Given the description of an element on the screen output the (x, y) to click on. 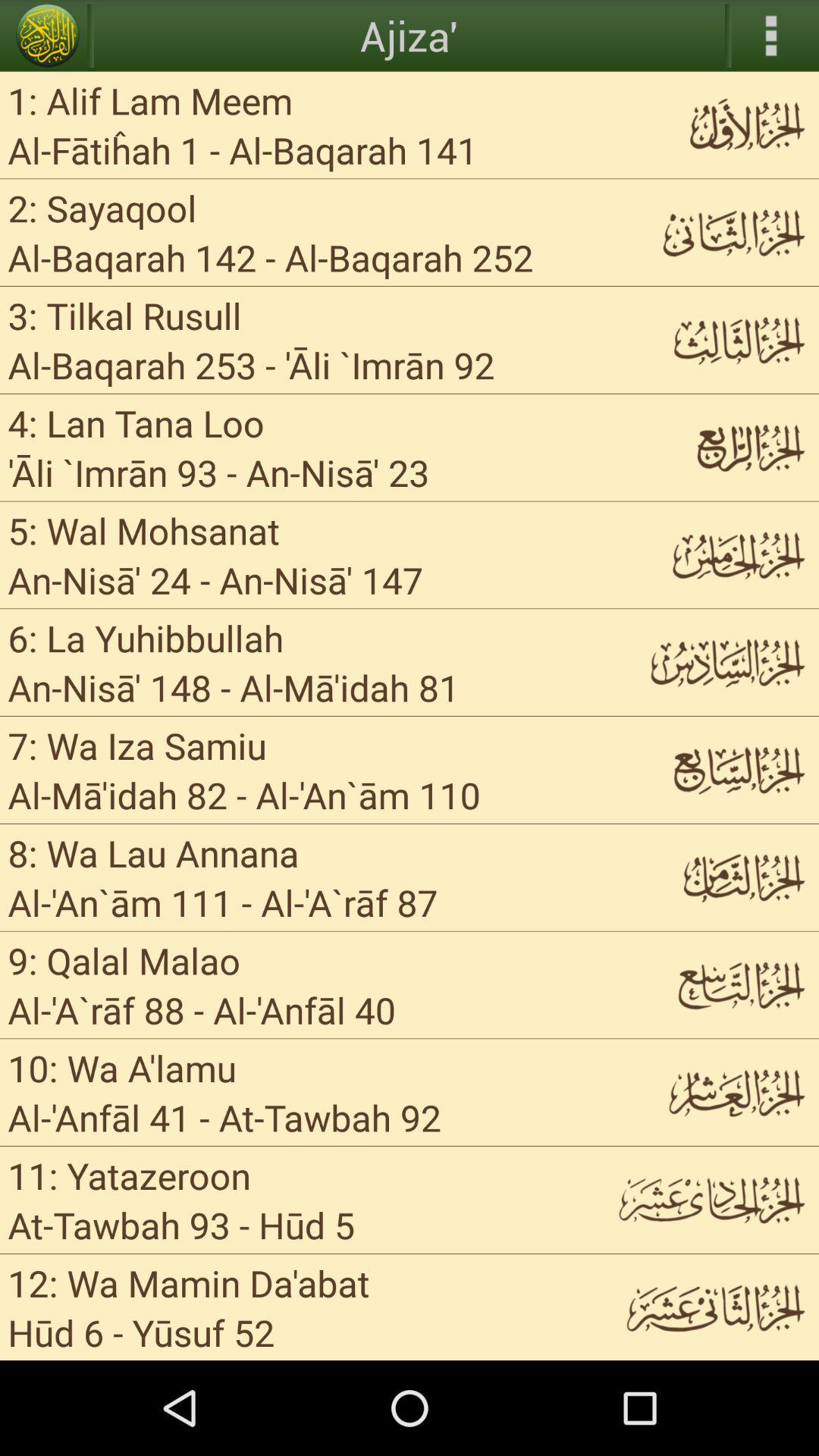
launch the app below al baqarah 142 icon (124, 315)
